Given the description of an element on the screen output the (x, y) to click on. 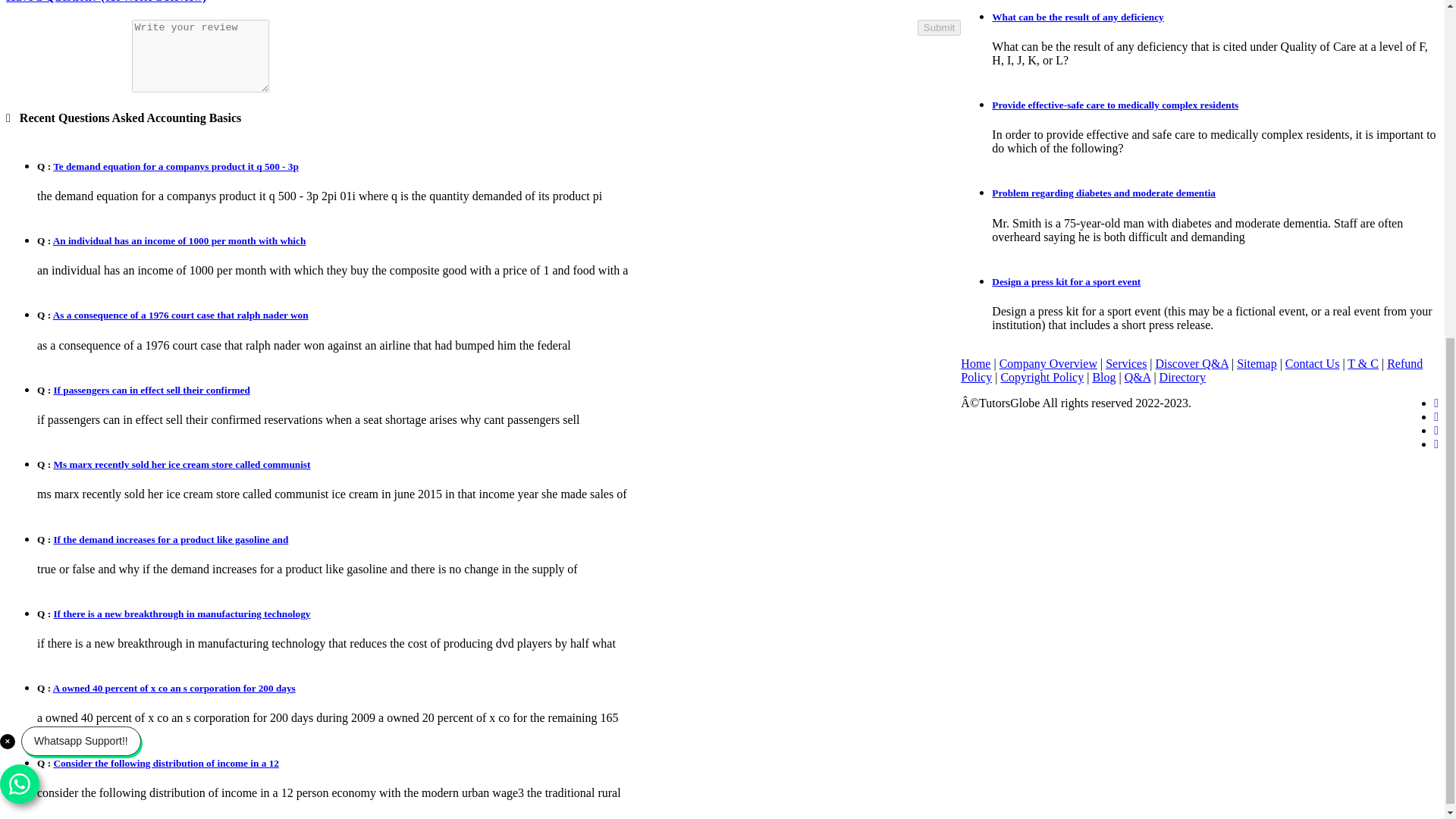
Design a press kit for a sport event (1065, 281)
What can be the result of any deficiency (1077, 16)
Copyright Policy (1041, 377)
Contact Us (1312, 363)
Problem regarding diabetes and moderate dementia (1103, 193)
Provide effective-safe care to medically complex residents (1115, 104)
An individual has an income of 1000 per month with which (178, 240)
Company Overview (1047, 363)
If there is a new breakthrough in manufacturing technology (181, 613)
Te demand equation for a companys product it q 500 - 3p (175, 165)
Refund Policy (1191, 370)
Sitemap (1256, 363)
As a consequence of a 1976 court case that ralph nader won (180, 315)
Services (1126, 363)
If the demand increases for a product like gasoline and (170, 539)
